Given the description of an element on the screen output the (x, y) to click on. 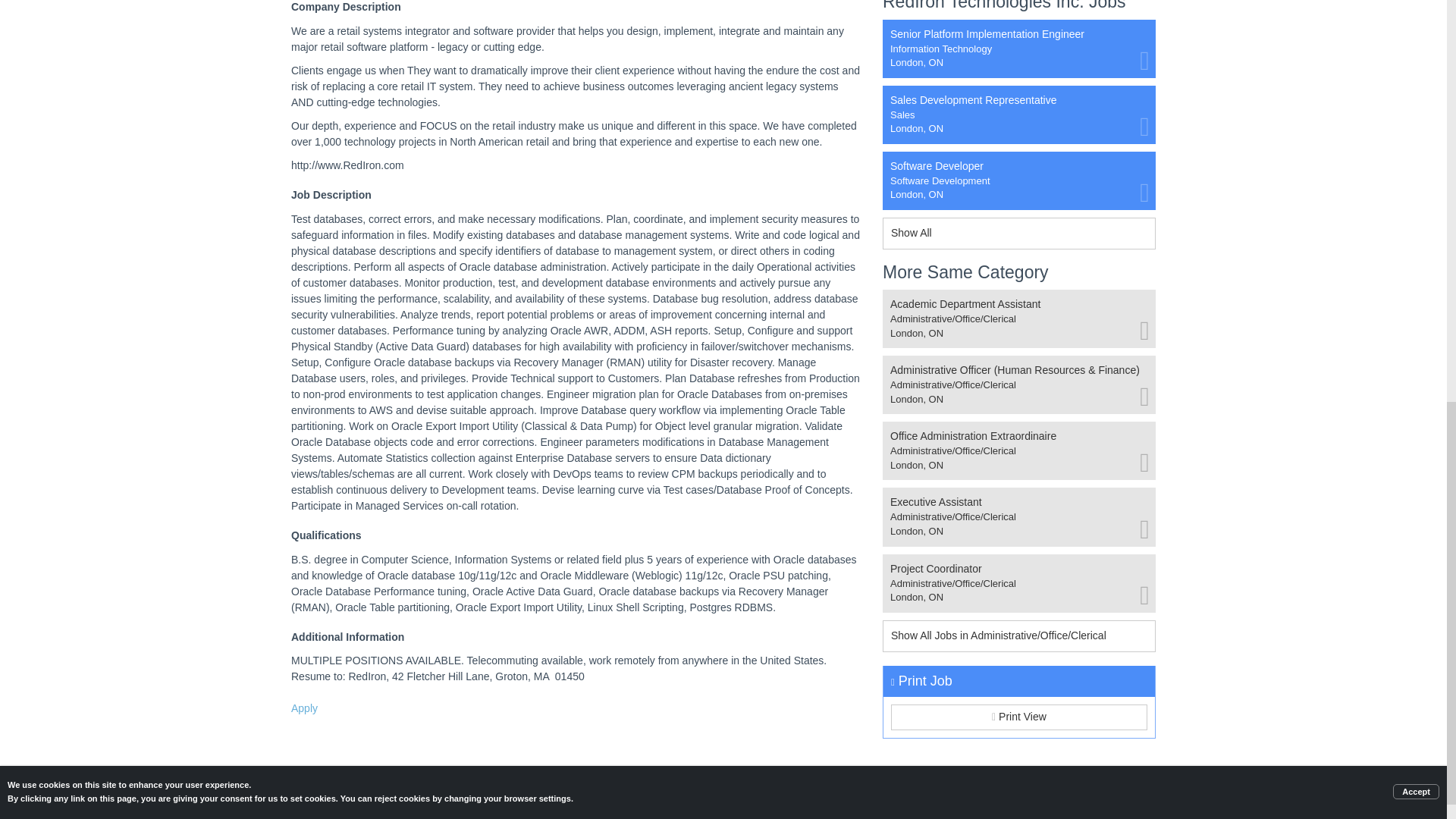
Show All (1019, 180)
Print View (1019, 233)
Apply (1019, 717)
